Given the description of an element on the screen output the (x, y) to click on. 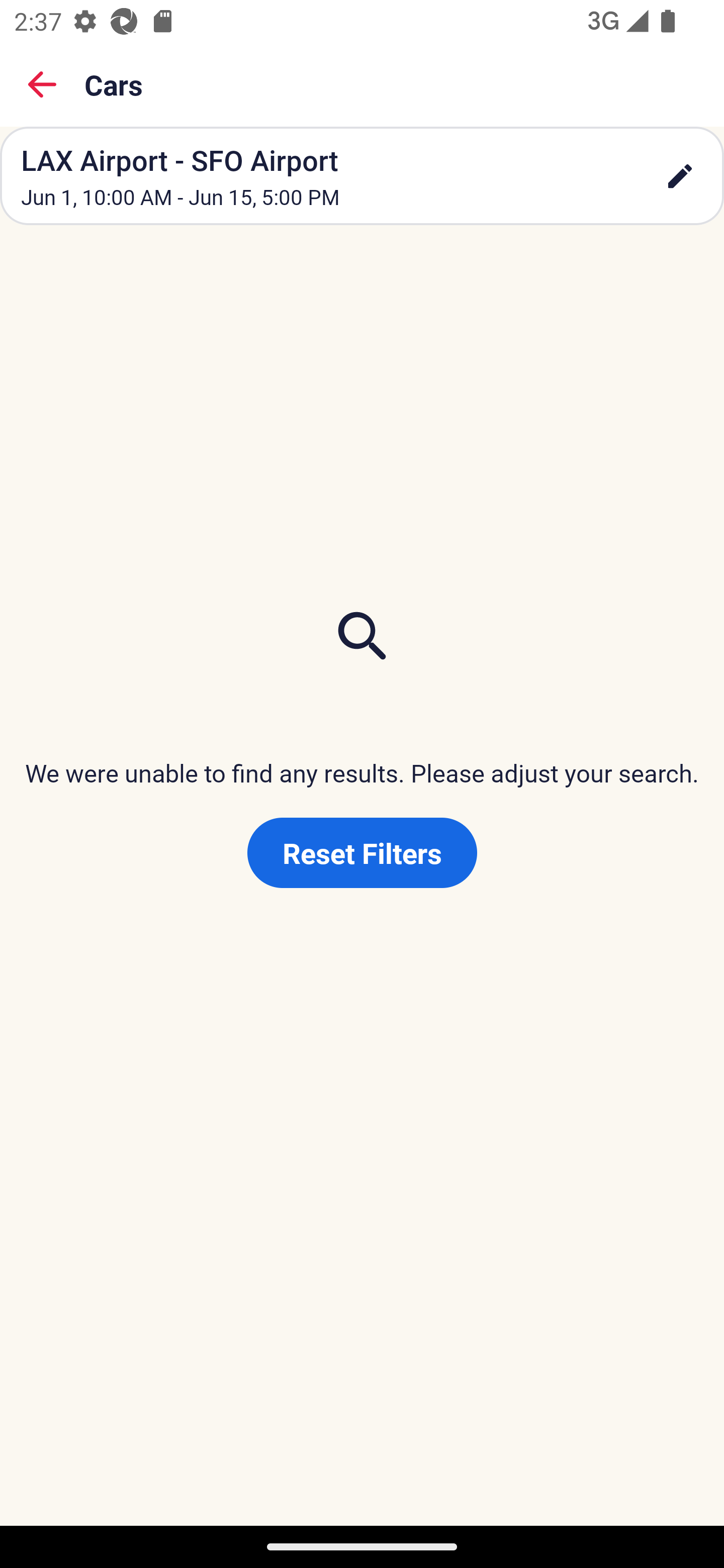
Back (42, 84)
edit (679, 175)
Reset Filters (362, 852)
